Given the description of an element on the screen output the (x, y) to click on. 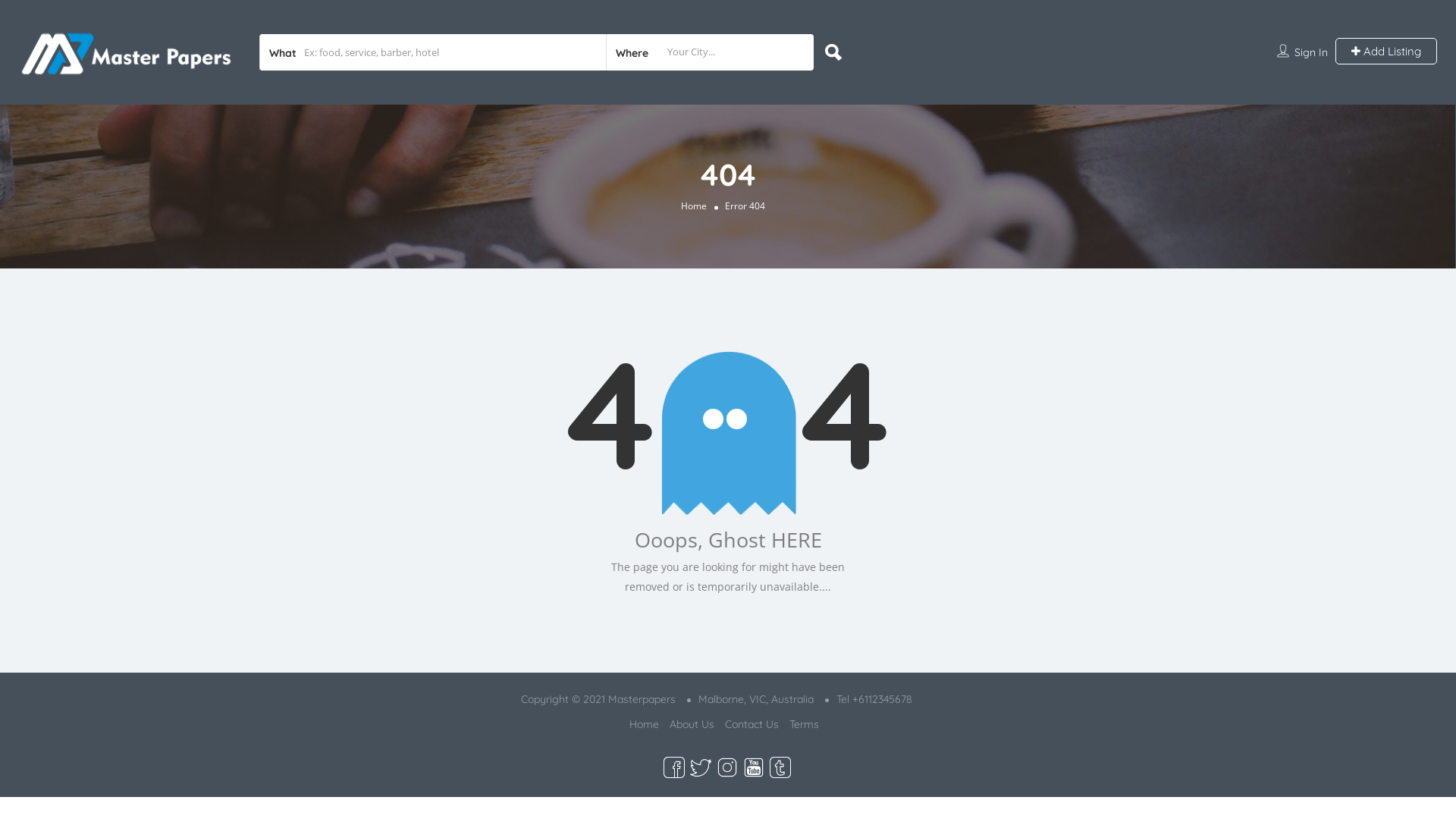
Add Listing Element type: text (1386, 50)
About Us Element type: text (691, 724)
Home Element type: text (643, 724)
Terms Element type: text (804, 724)
Home Element type: text (693, 204)
Sign In Element type: text (1310, 52)
Contact Us Element type: text (751, 724)
